Given the description of an element on the screen output the (x, y) to click on. 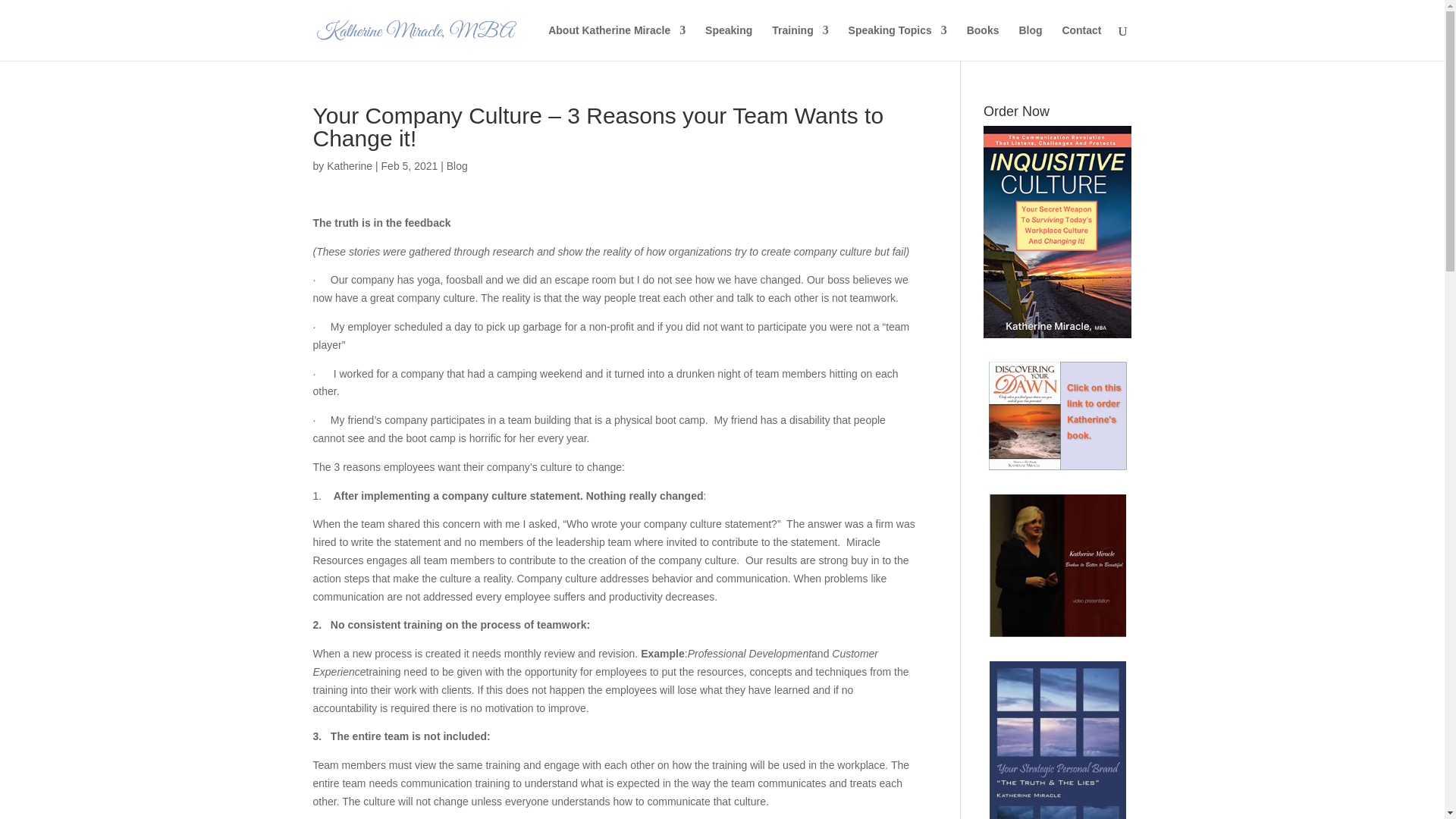
Books (982, 42)
Contact (1080, 42)
Speaking (728, 42)
Posts by Katherine (349, 165)
Katherine (349, 165)
About Katherine Miracle (616, 42)
Training (799, 42)
Blog (456, 165)
Speaking Topics (897, 42)
